Given the description of an element on the screen output the (x, y) to click on. 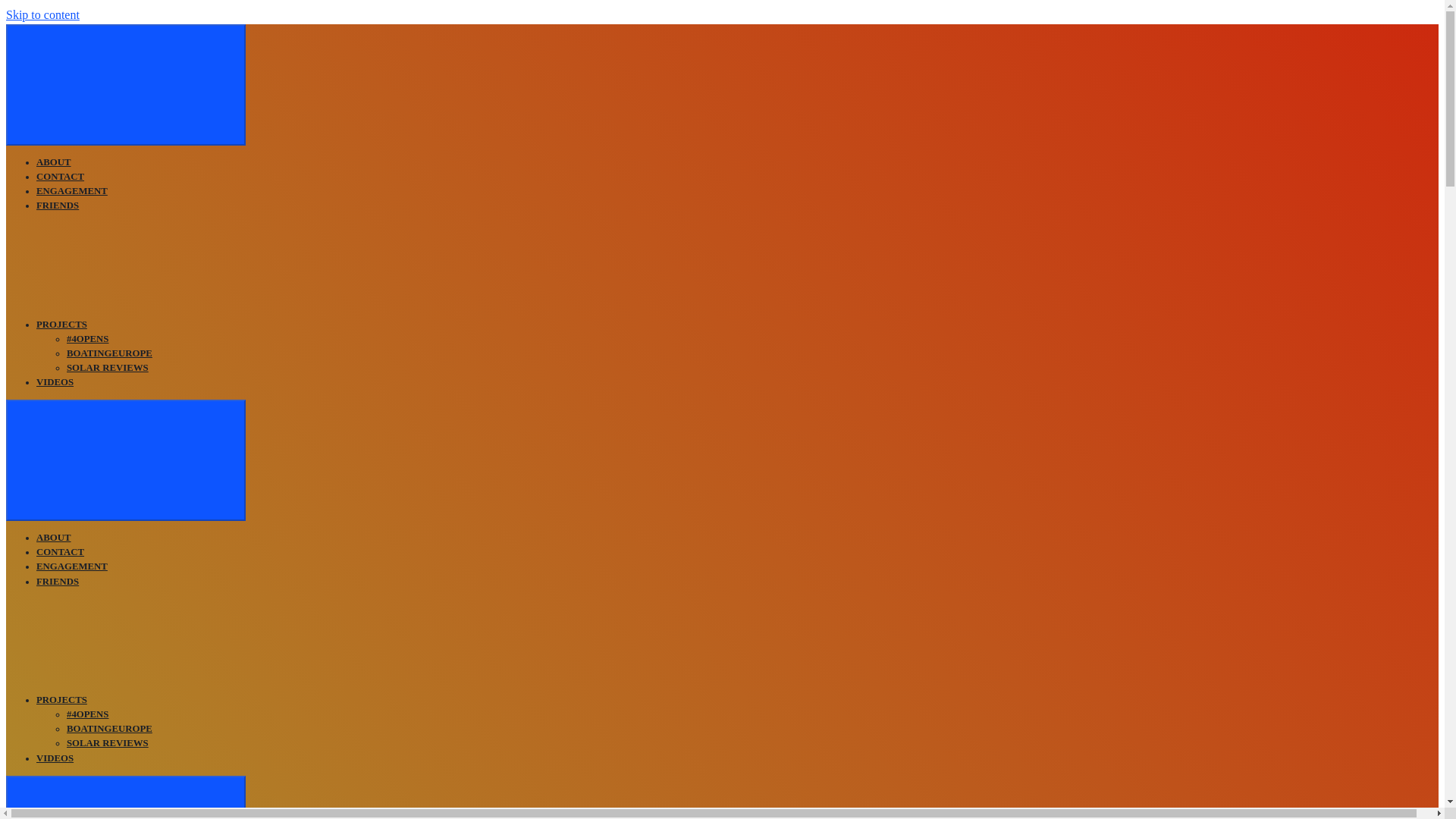
BOATINGEUROPE (109, 353)
ENGAGEMENT (71, 566)
ABOUT (53, 537)
Skip to content (42, 14)
CONTACT (60, 176)
PROJECTS (61, 324)
ENGAGEMENT (71, 190)
VIDEOS (55, 757)
BOATINGEUROPE (109, 728)
SOLAR REVIEWS (107, 742)
